Given the description of an element on the screen output the (x, y) to click on. 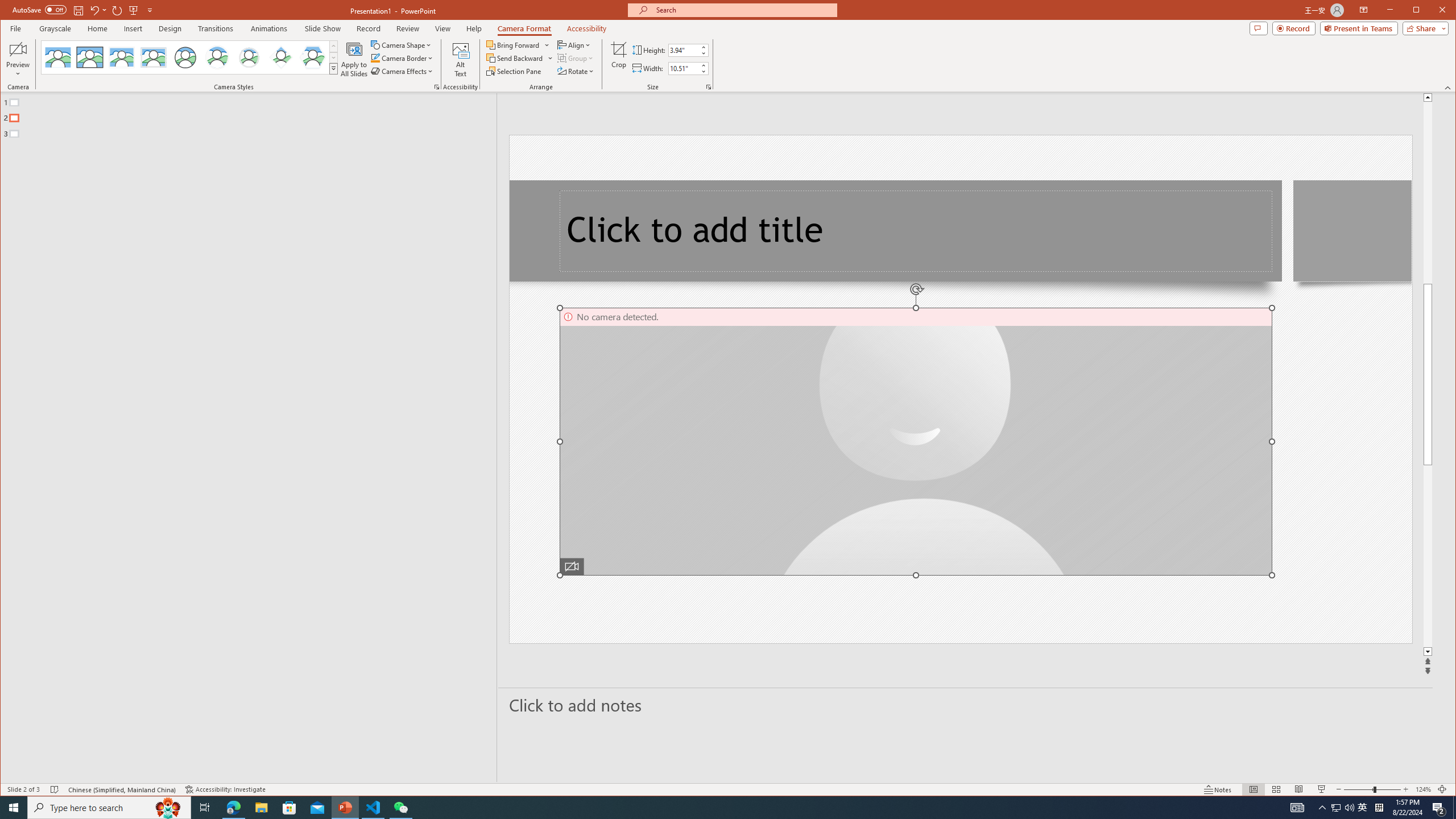
Zoom (1371, 789)
Align (575, 44)
Redo (117, 9)
Slide Sorter (1276, 789)
Design (170, 28)
File Tab (15, 27)
Search highlights icon opens search home window (167, 807)
Animations (269, 28)
Present in Teams (1358, 28)
Camera Border Blue, Accent 1 (375, 57)
Enable Camera Preview (17, 48)
View (443, 28)
Simple Frame Rectangle (90, 57)
